Given the description of an element on the screen output the (x, y) to click on. 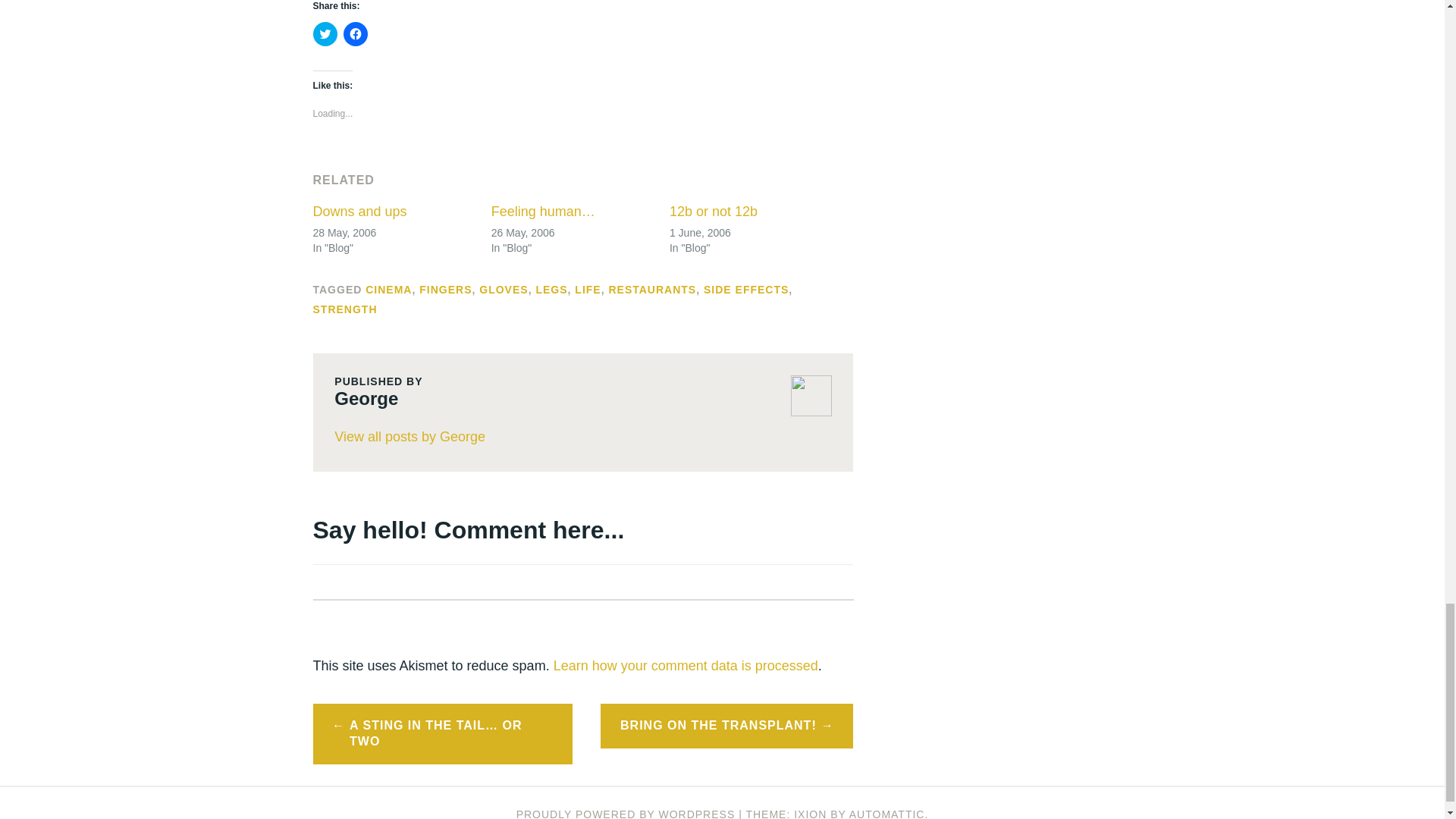
RESTAURANTS (651, 289)
Click to share on Twitter (324, 33)
Click to share on Facebook (354, 33)
12b or not 12b (713, 211)
GLOVES (503, 289)
Downs and ups (359, 211)
LIFE (587, 289)
FINGERS (445, 289)
View all posts by George (582, 437)
STRENGTH (345, 309)
